Given the description of an element on the screen output the (x, y) to click on. 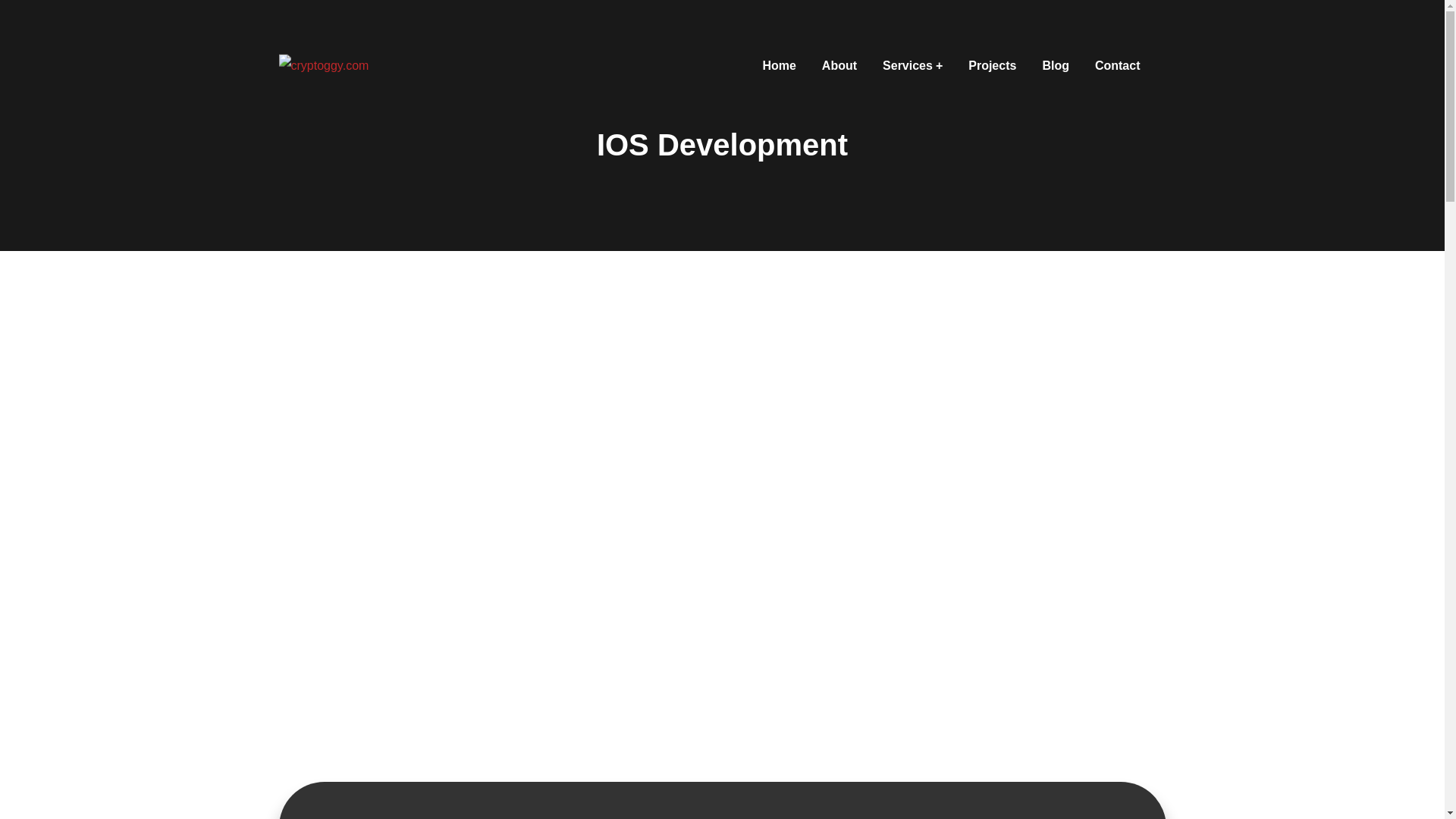
Home (777, 65)
Blog (1055, 65)
Projects (992, 65)
Contact (1117, 65)
Services (912, 65)
cryptoggy.com (324, 65)
About (839, 65)
